Given the description of an element on the screen output the (x, y) to click on. 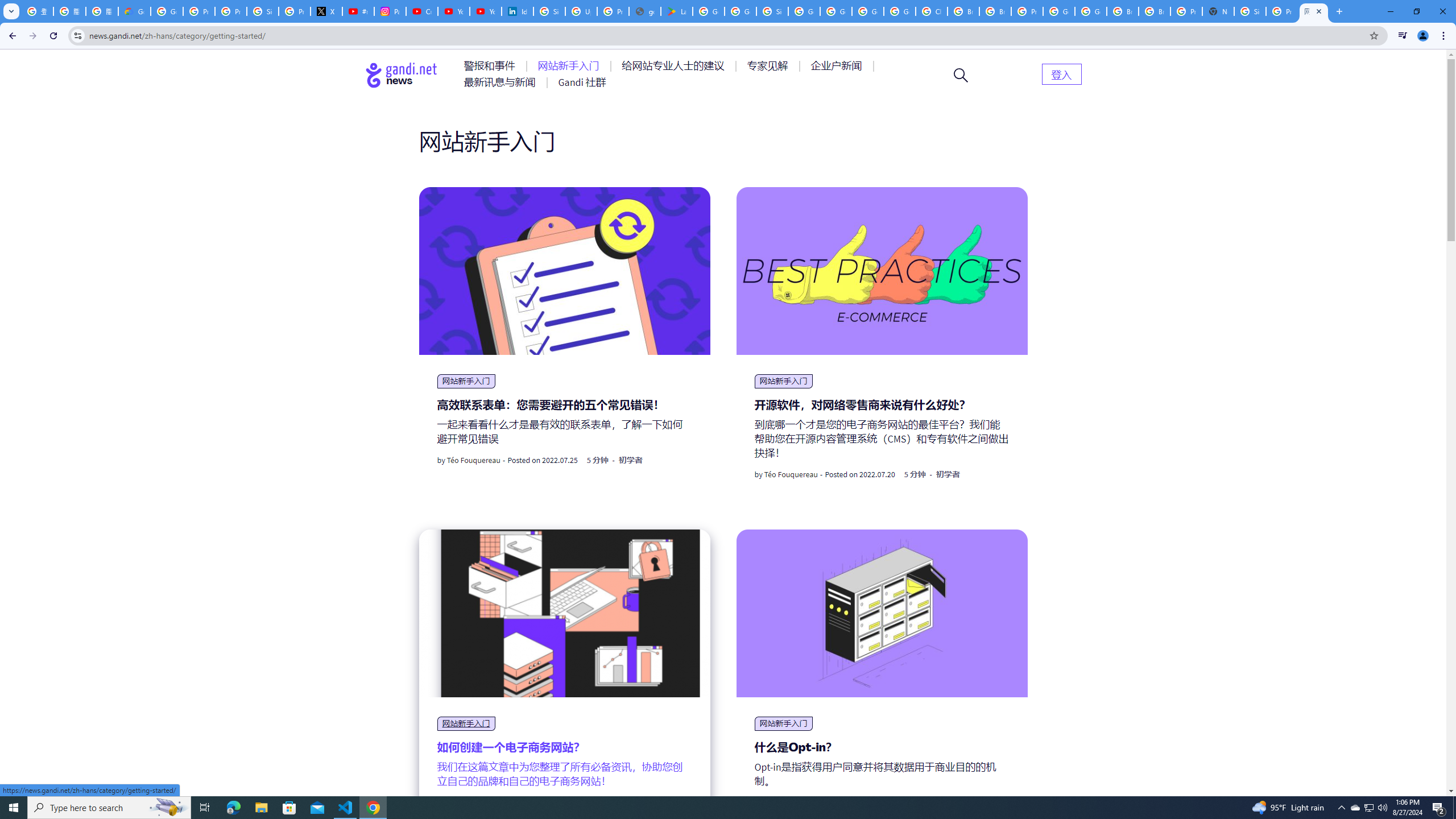
AutomationID: menu-item-77762 (570, 65)
AutomationID: menu-item-77767 (581, 82)
#nbabasketballhighlights - YouTube (358, 11)
Open search form (960, 74)
AutomationID: menu-item-77766 (502, 82)
New Tab (1217, 11)
Browse Chrome as a guest - Computer - Google Chrome Help (1123, 11)
